Given the description of an element on the screen output the (x, y) to click on. 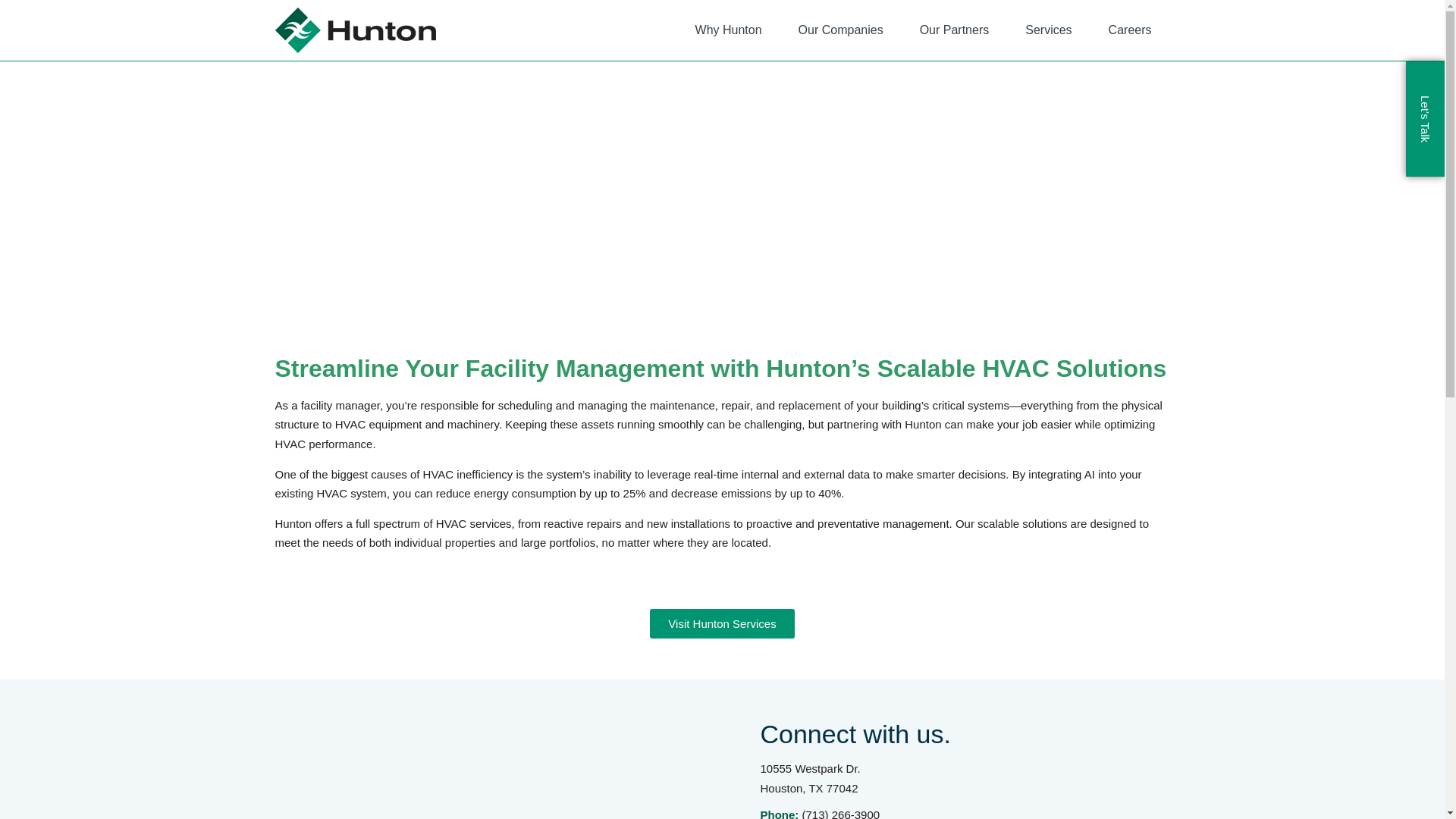
Why Hunton (728, 30)
Our Companies (840, 30)
Careers (1130, 30)
Our Partners (954, 30)
Services (1048, 30)
